Given the description of an element on the screen output the (x, y) to click on. 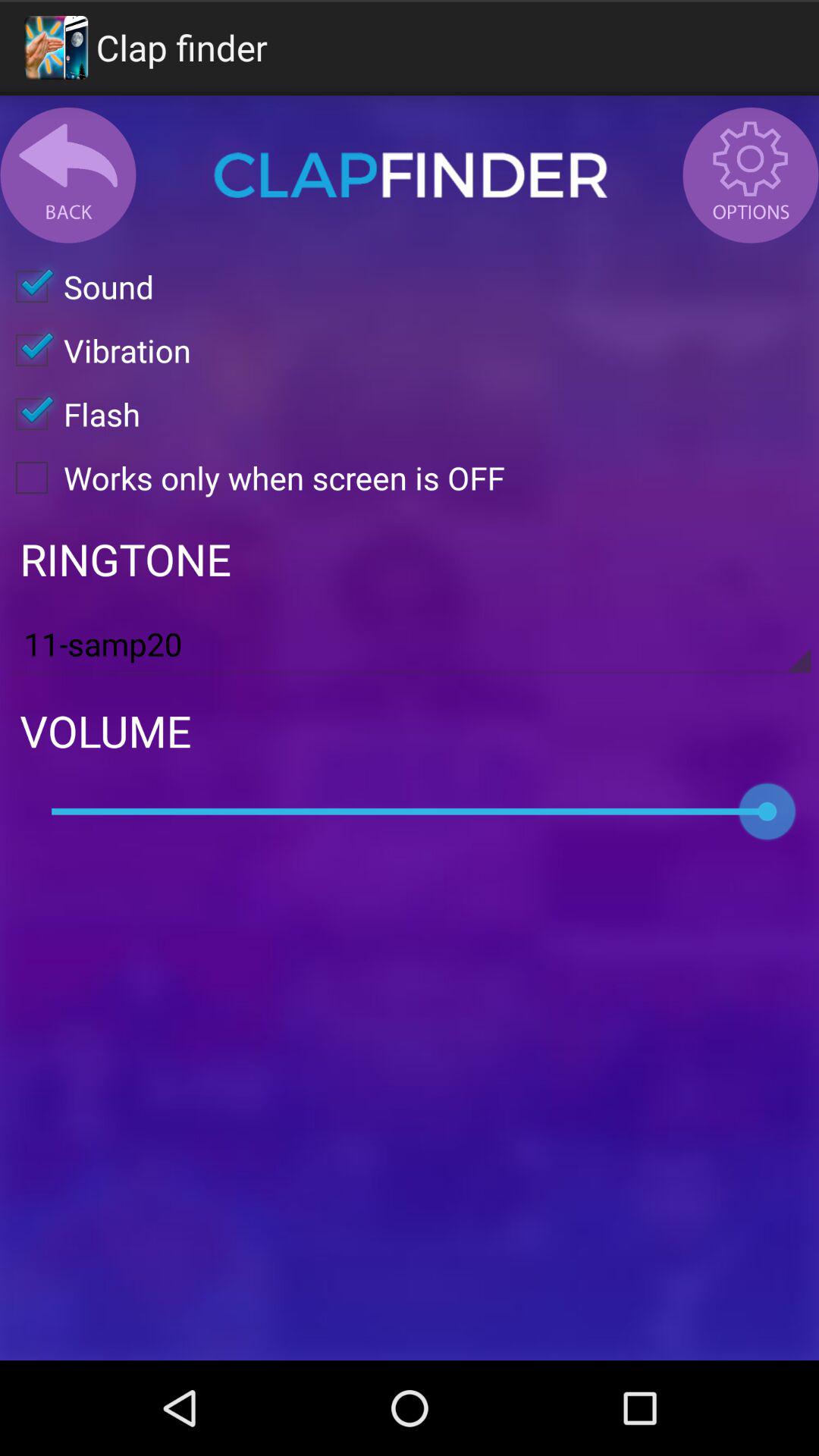
flip until the sound item (77, 286)
